Given the description of an element on the screen output the (x, y) to click on. 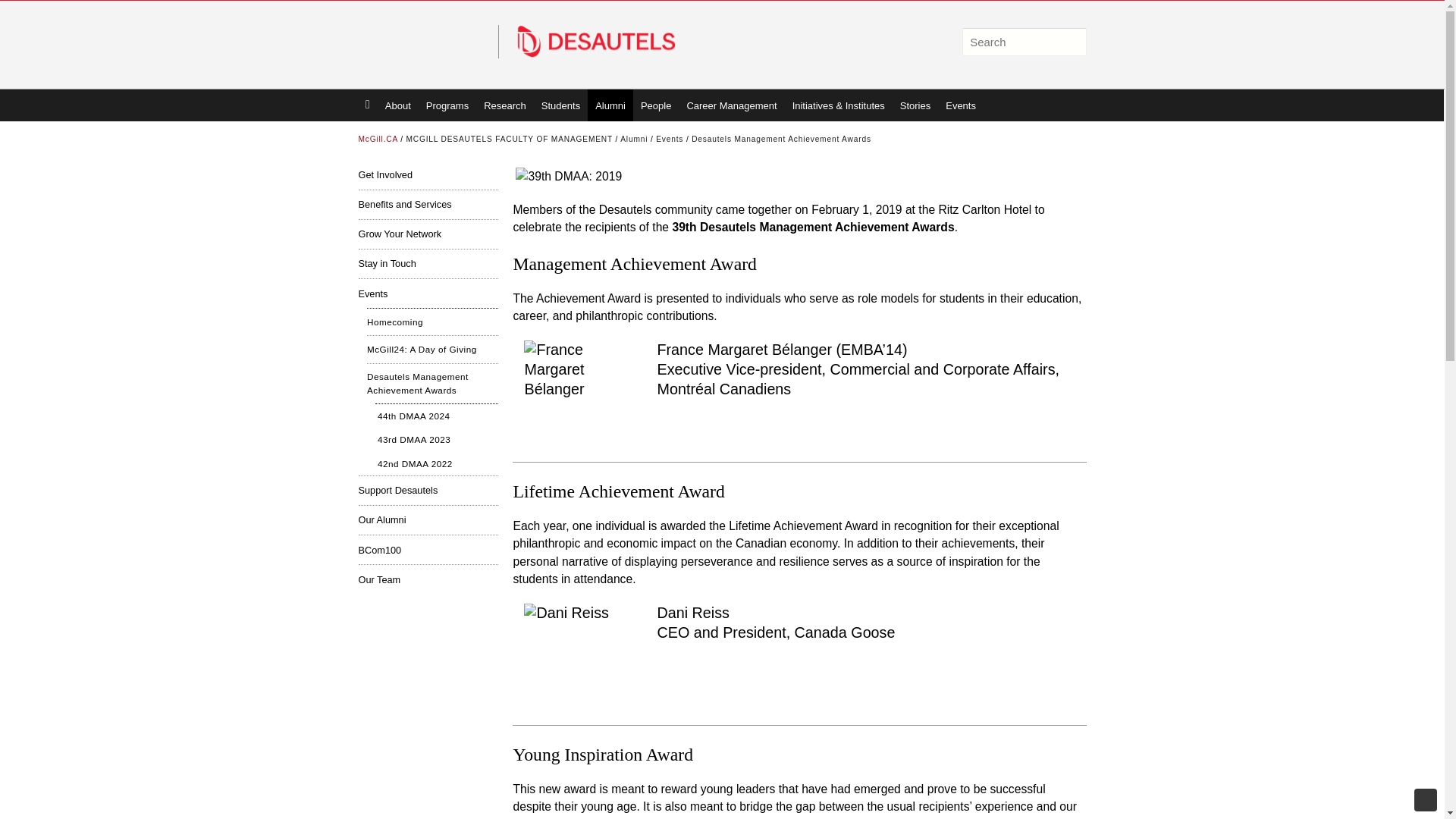
Search (1070, 42)
Students (561, 105)
Dani Reiss (584, 663)
Programs (447, 105)
39th DMAA: 2019 (568, 176)
McGill University (427, 44)
Career Management (731, 105)
Research (505, 105)
About (398, 105)
Search (1070, 42)
return to McGill University (427, 44)
Alumni (610, 105)
People (655, 105)
